Given the description of an element on the screen output the (x, y) to click on. 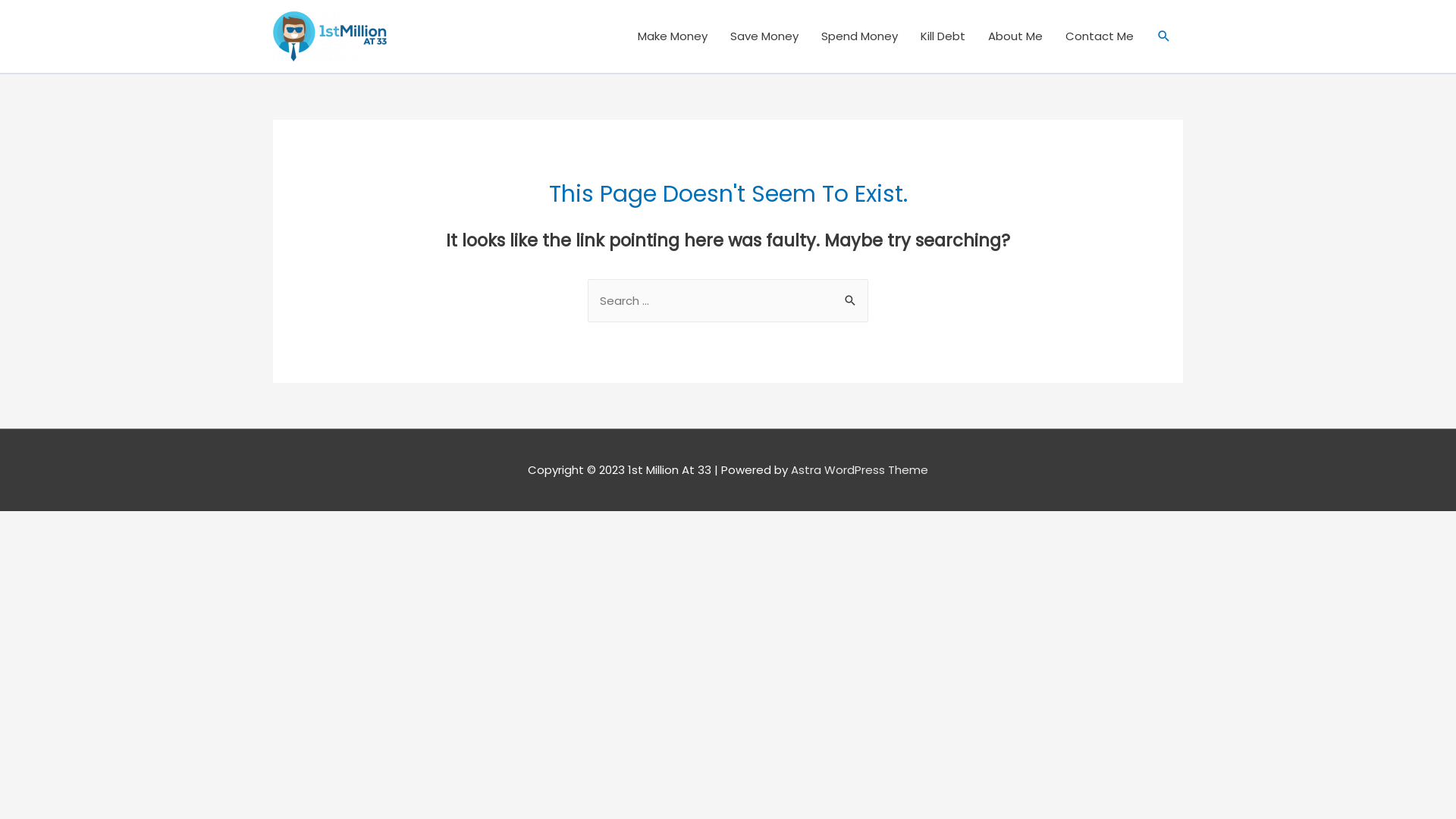
Contact Me Element type: text (1099, 36)
Save Money Element type: text (763, 36)
Make Money Element type: text (672, 36)
Spend Money Element type: text (859, 36)
About Me Element type: text (1015, 36)
Astra WordPress Theme Element type: text (859, 469)
Search Element type: text (1163, 35)
Kill Debt Element type: text (942, 36)
Search Element type: text (851, 299)
